Given the description of an element on the screen output the (x, y) to click on. 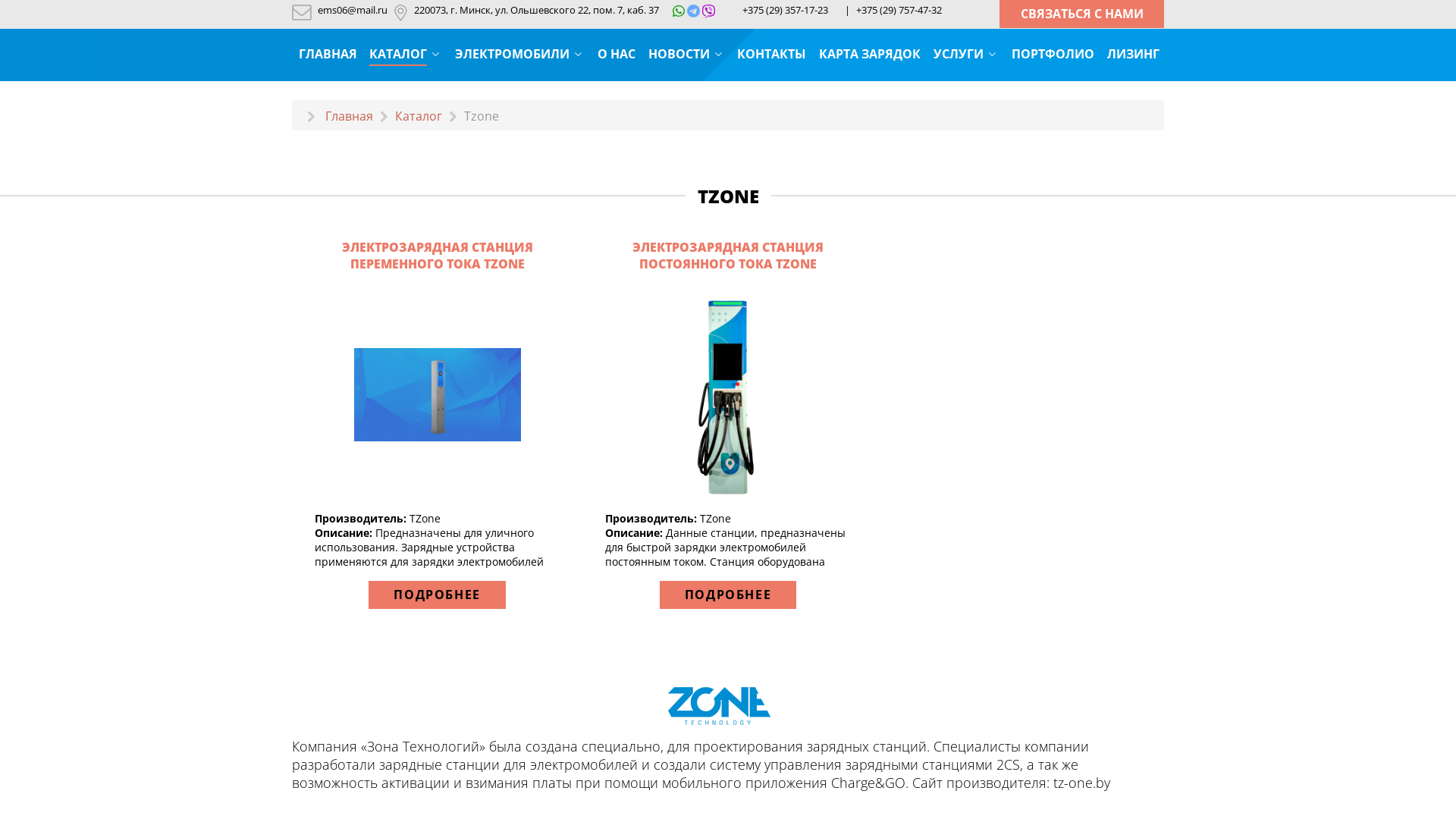
+375 (29) 757-47-32 Element type: text (898, 9)
+375 (29) 357-17-23 Element type: text (785, 9)
